Given the description of an element on the screen output the (x, y) to click on. 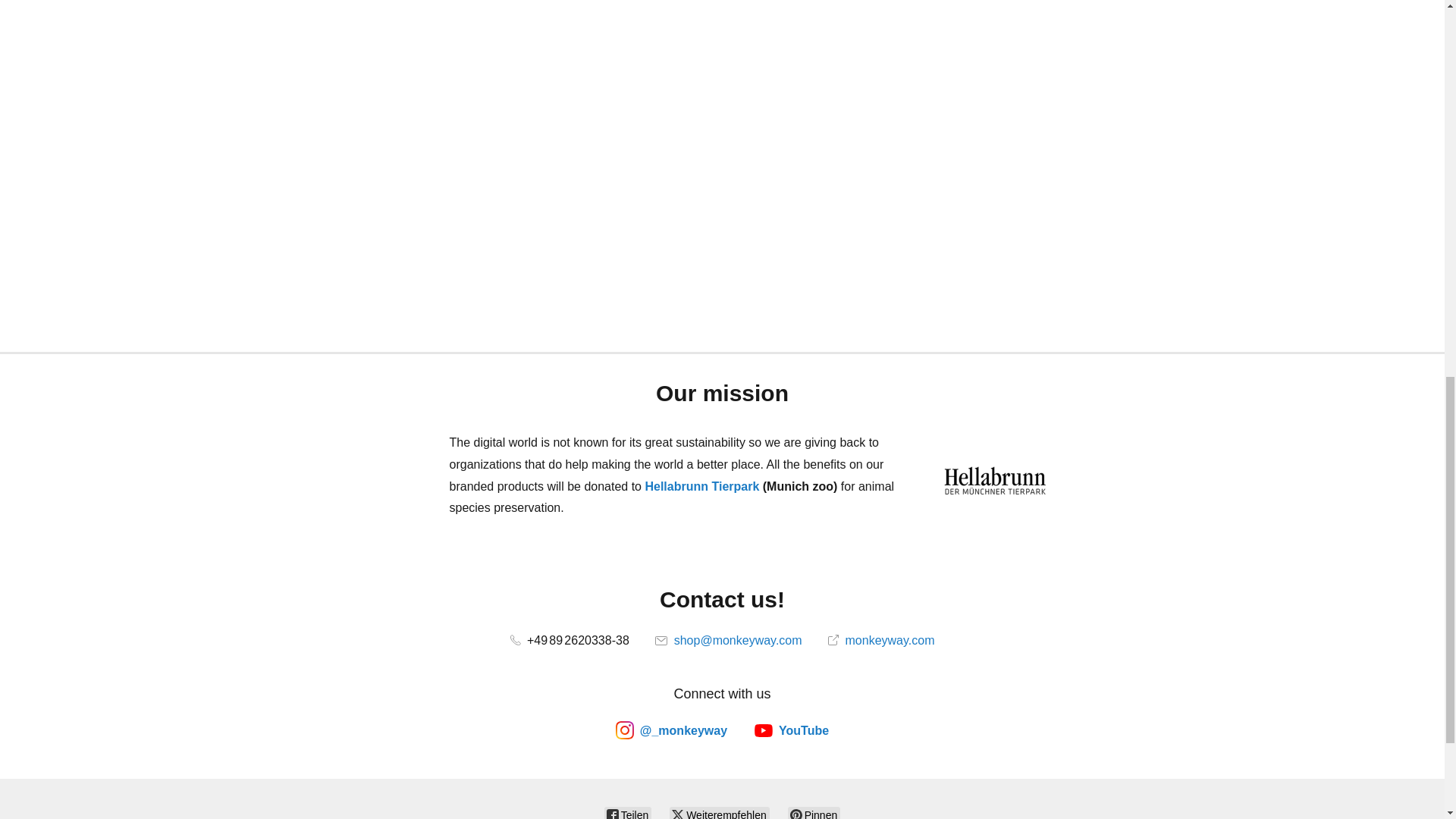
Pinnen (813, 812)
YouTube (791, 730)
Hellabrunn Tierpark (701, 486)
Weiterempfehlen (718, 812)
monkeyway.com (881, 640)
Teilen (627, 812)
